Given the description of an element on the screen output the (x, y) to click on. 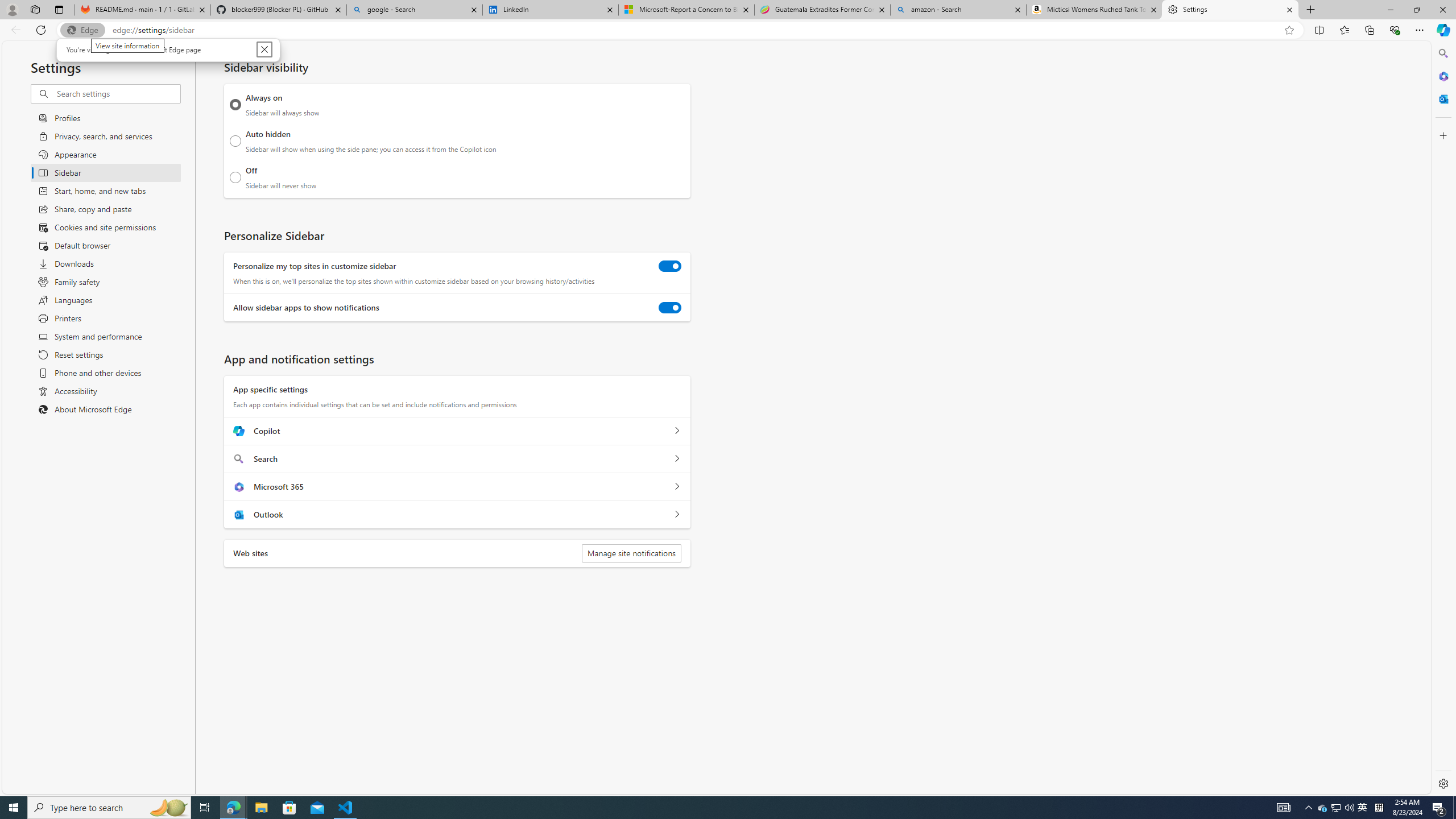
Manage site notifications (630, 553)
Tray Input Indicator - Chinese (Simplified, China) (1378, 807)
Microsoft Store (289, 807)
AutomationID: 4105 (1283, 807)
Microsoft Edge - 2 running windows (233, 807)
LinkedIn (550, 9)
Personalize my top sites in customize sidebar (669, 265)
Always on Sidebar will always show (1335, 807)
Search settings (235, 104)
